Given the description of an element on the screen output the (x, y) to click on. 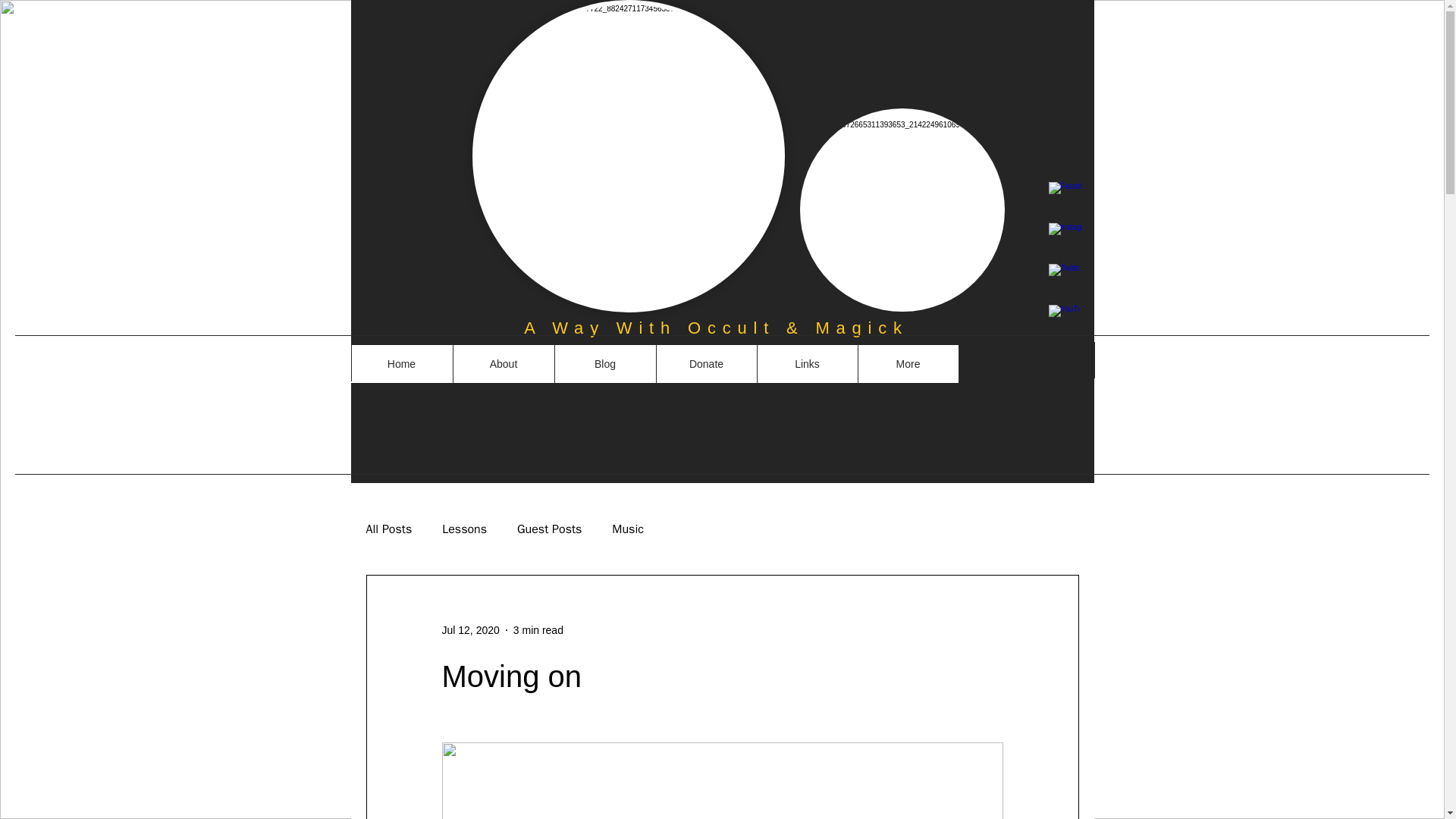
3 min read (538, 629)
Blog (604, 363)
Jul 12, 2020 (470, 629)
All Posts (388, 529)
Guest Posts (548, 529)
Links (807, 363)
Lessons (464, 529)
Music (627, 529)
About (502, 363)
Home (400, 363)
Donate (705, 363)
